Given the description of an element on the screen output the (x, y) to click on. 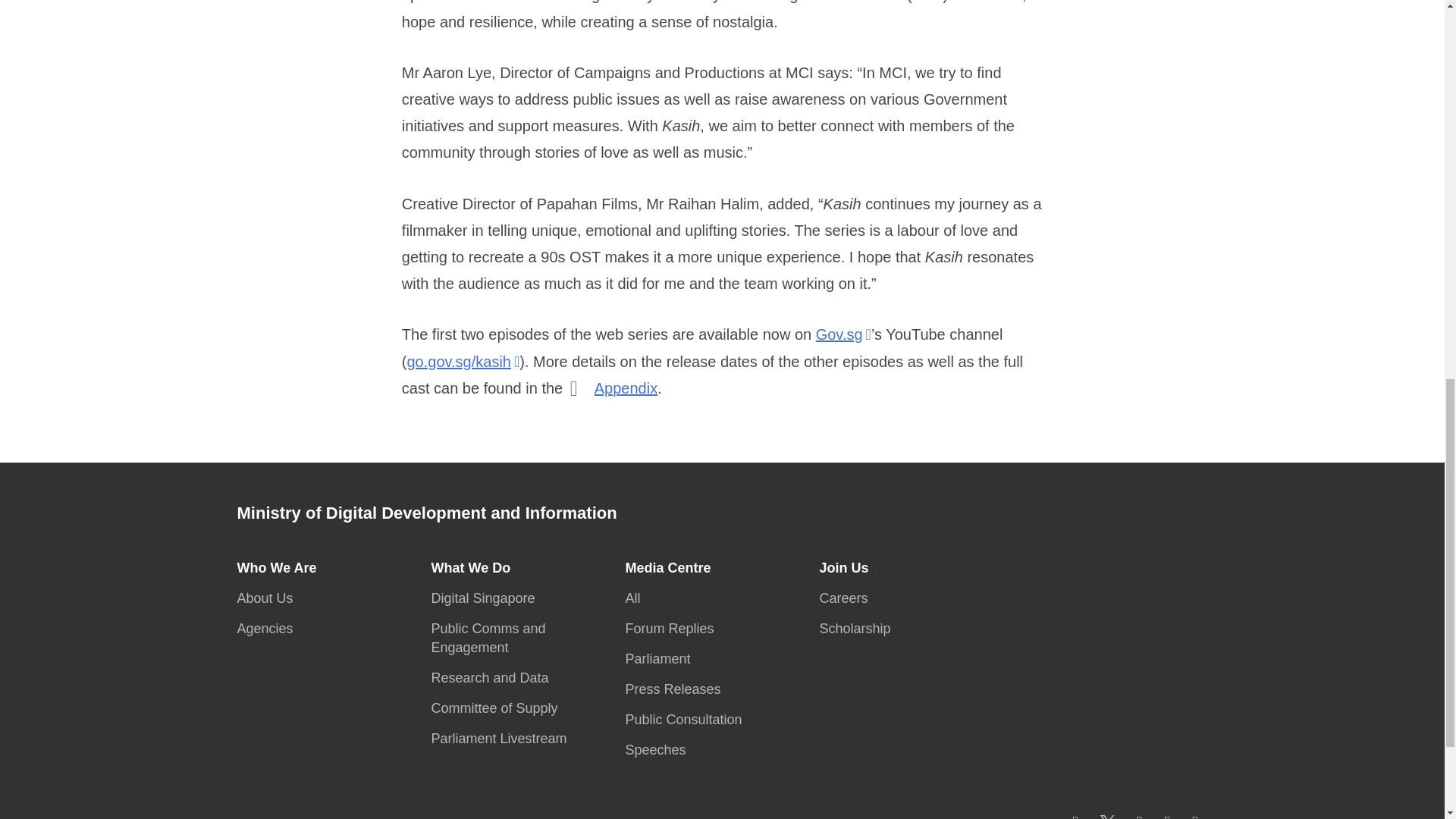
Appendix (626, 388)
LinkedIn (1195, 816)
Who We Are (279, 567)
Gov.sg (842, 334)
Link to reach.gov.sg (466, 818)
Facebook (1074, 816)
YouTube (1138, 816)
Instagram (1166, 816)
